Given the description of an element on the screen output the (x, y) to click on. 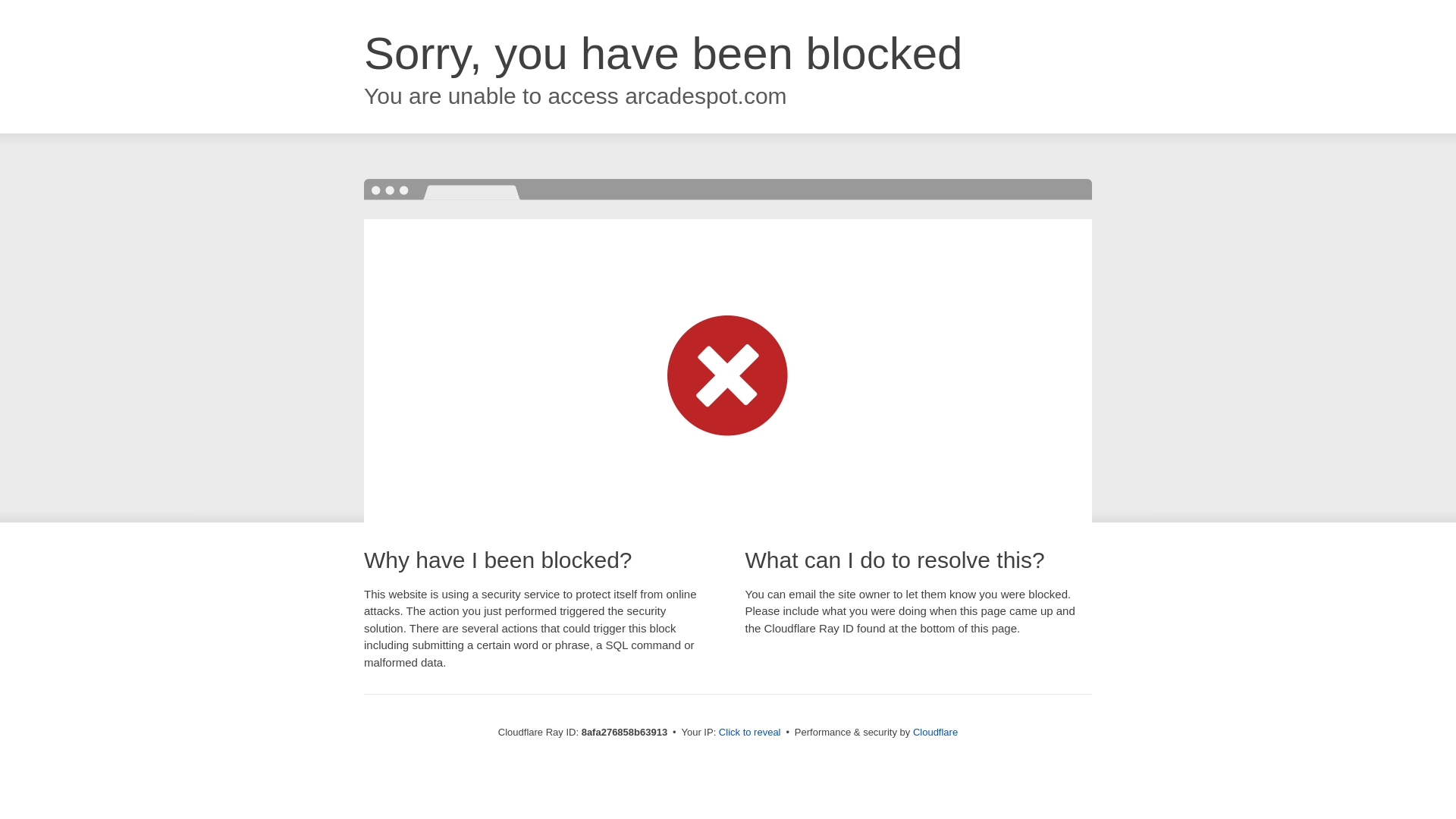
Cloudflare (935, 731)
Click to reveal (749, 732)
